Given the description of an element on the screen output the (x, y) to click on. 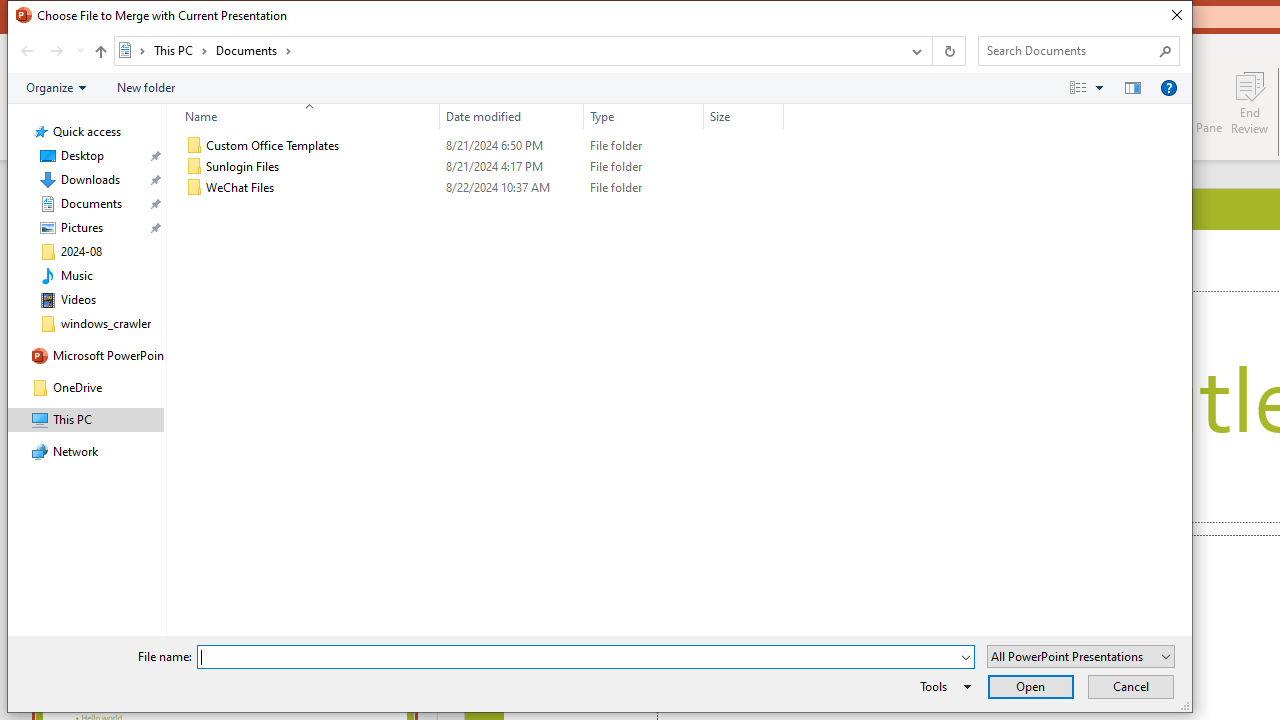
Size (743, 187)
End Review (1249, 102)
Up to "This PC" (Alt + Up Arrow) (100, 52)
Address band toolbar (931, 51)
View Slider (1099, 87)
Tools (942, 686)
Type (643, 187)
Search Box (1069, 50)
Filter dropdown (775, 115)
File name: (586, 656)
Preview pane (1132, 87)
Previous Locations (914, 51)
WeChat Files (480, 187)
Views (1090, 87)
